Given the description of an element on the screen output the (x, y) to click on. 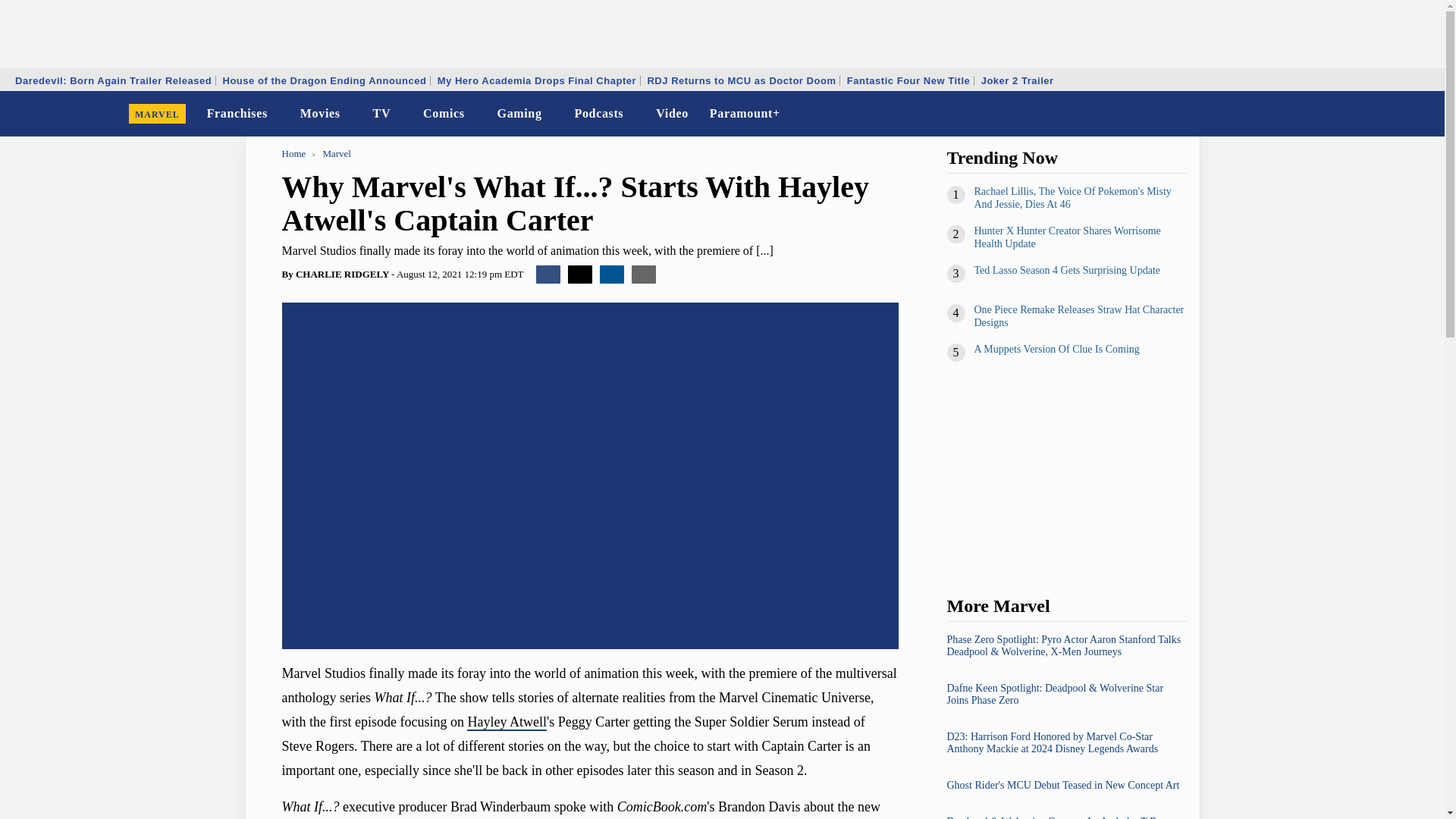
MARVEL (157, 113)
Movies (320, 113)
Joker 2 Trailer (1017, 80)
Dark Mode (1394, 113)
RDJ Returns to MCU as Doctor Doom (741, 80)
Search (1422, 114)
My Hero Academia Drops Final Chapter (536, 80)
Daredevil: Born Again Trailer Released (113, 80)
Fantastic Four New Title (908, 80)
House of the Dragon Ending Announced (323, 80)
